Given the description of an element on the screen output the (x, y) to click on. 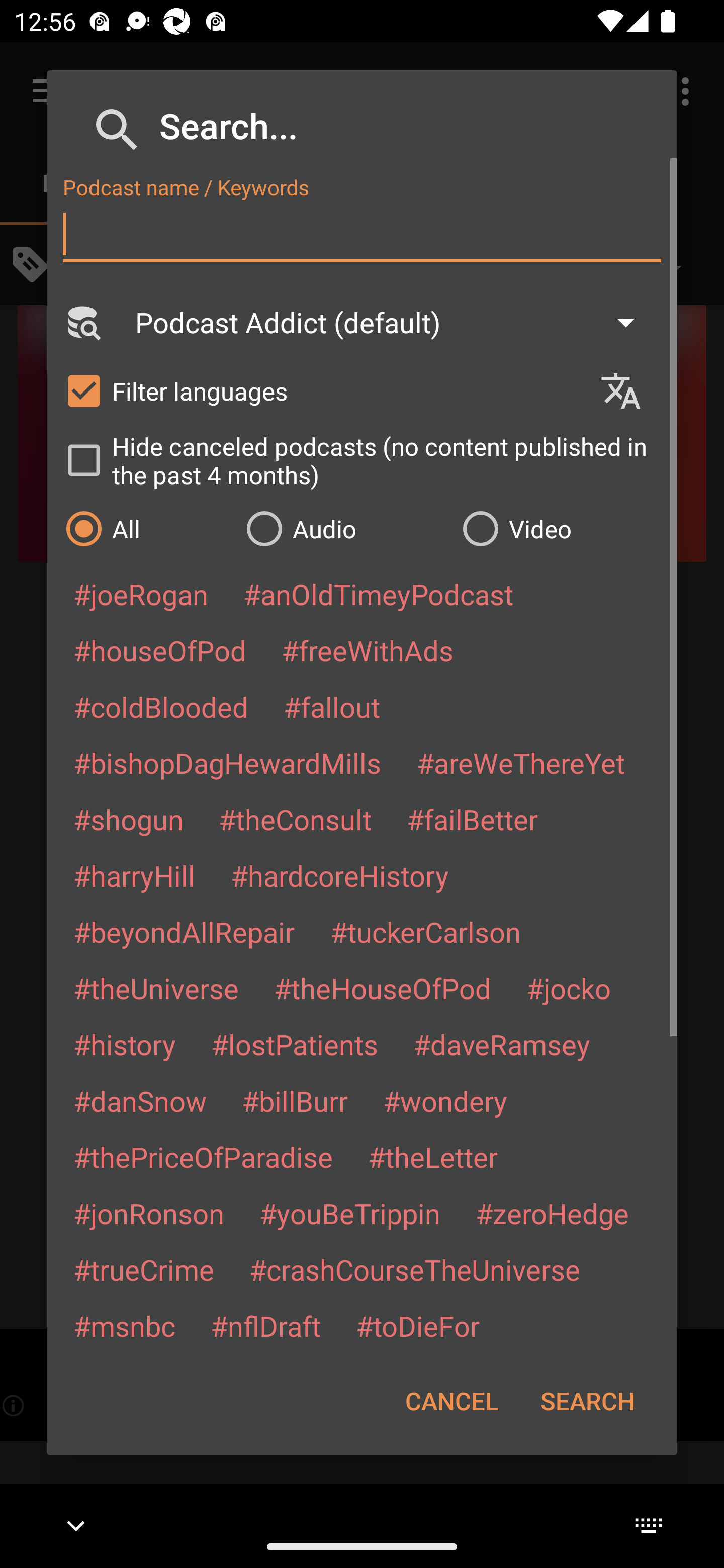
Podcast name / Keywords (361, 234)
Search Engine (82, 322)
Podcast Addict (default) (394, 322)
Languages selection (629, 390)
Filter languages (322, 390)
All (145, 528)
Audio (344, 528)
Video (560, 528)
#joeRogan (140, 594)
#anOldTimeyPodcast (378, 594)
#houseOfPod (159, 650)
#freeWithAds (367, 650)
#coldBlooded (160, 705)
#fallout (331, 705)
#bishopDagHewardMills (227, 762)
#areWeThereYet (521, 762)
#shogun (128, 818)
#theConsult (294, 818)
#failBetter (471, 818)
#harryHill (134, 875)
#hardcoreHistory (339, 875)
#beyondAllRepair (184, 931)
#tuckerCarlson (425, 931)
#theUniverse (155, 987)
#theHouseOfPod (381, 987)
#jocko (568, 987)
#history (124, 1044)
#lostPatients (294, 1044)
#daveRamsey (501, 1044)
#danSnow (139, 1100)
#billBurr (294, 1100)
#wondery (444, 1100)
#thePriceOfParadise (203, 1157)
#theLetter (432, 1157)
#jonRonson (148, 1213)
#youBeTrippin (349, 1213)
#zeroHedge (552, 1213)
#trueCrime (143, 1268)
#crashCourseTheUniverse (414, 1268)
#msnbc (124, 1325)
#nflDraft (265, 1325)
#toDieFor (417, 1325)
CANCEL (451, 1400)
SEARCH (587, 1400)
